Given the description of an element on the screen output the (x, y) to click on. 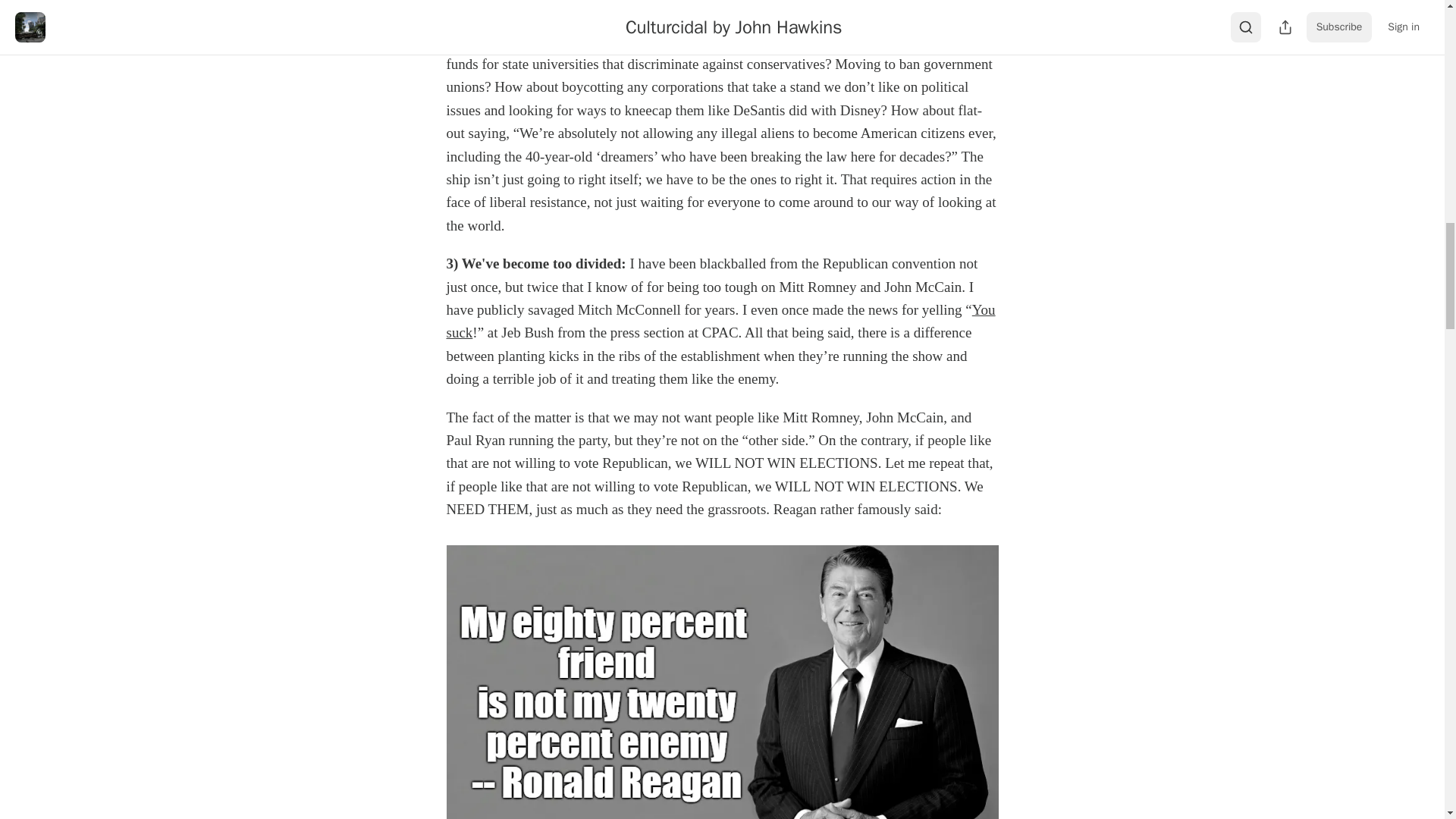
You suck (719, 321)
